Given the description of an element on the screen output the (x, y) to click on. 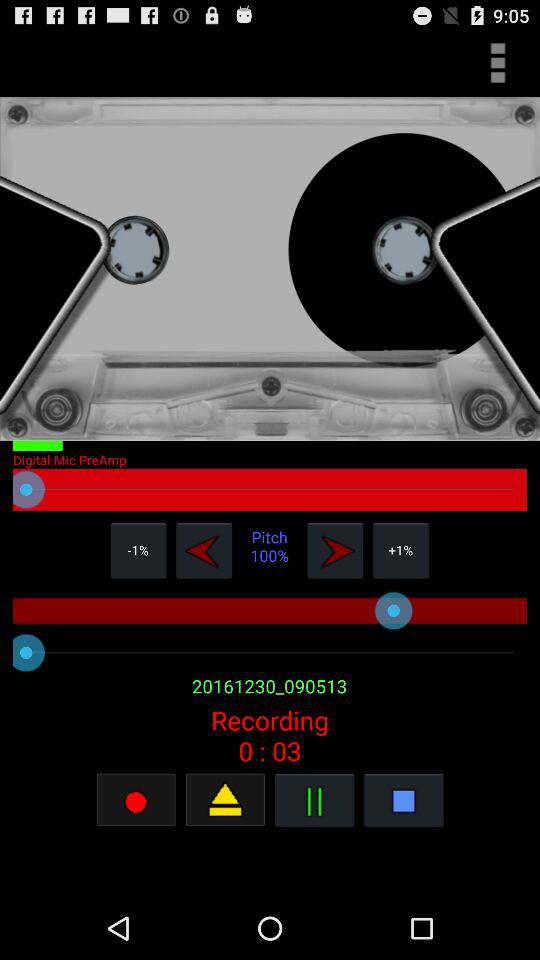
previous recording (204, 550)
